Given the description of an element on the screen output the (x, y) to click on. 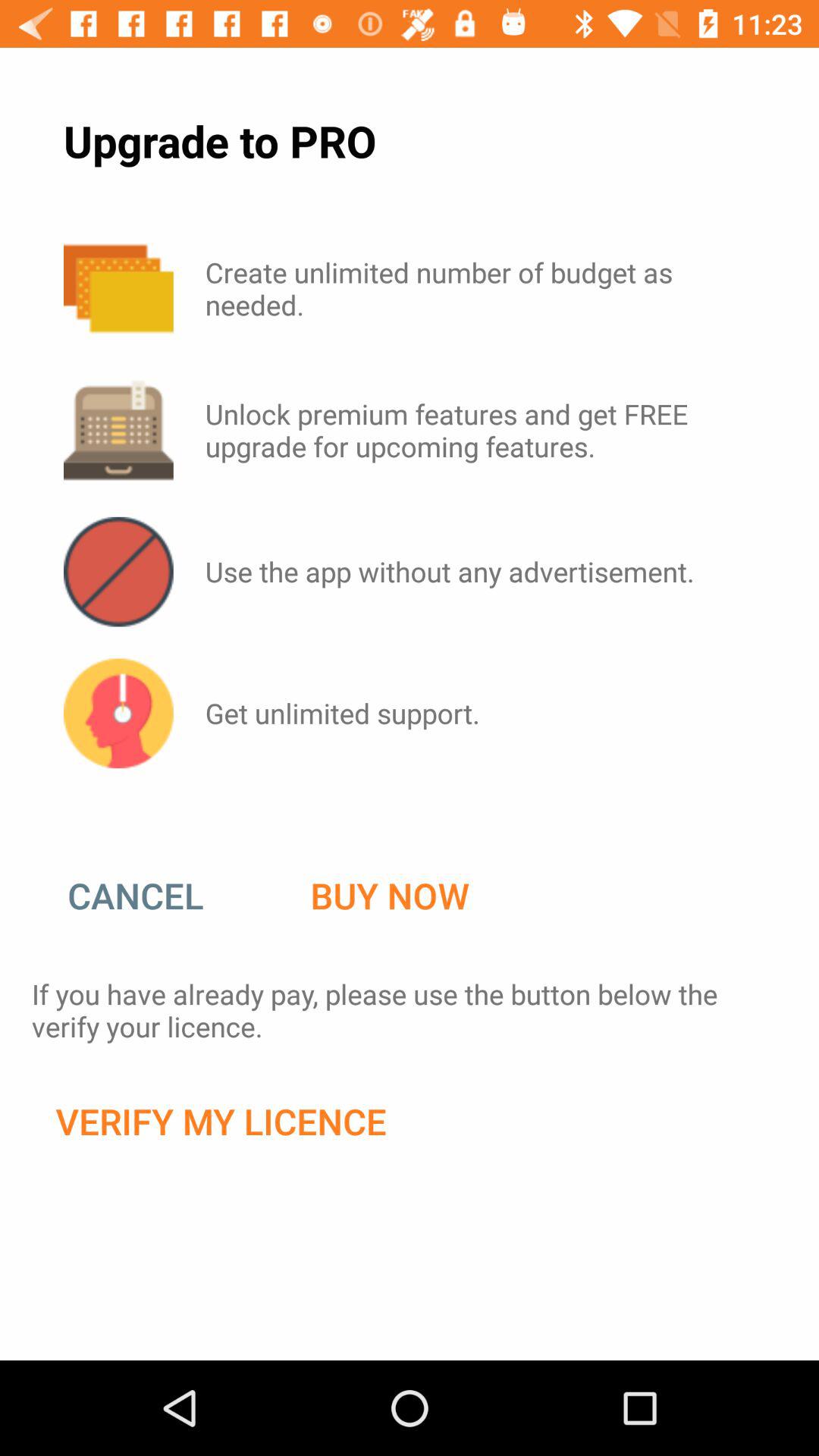
press item above the if you have icon (389, 895)
